Given the description of an element on the screen output the (x, y) to click on. 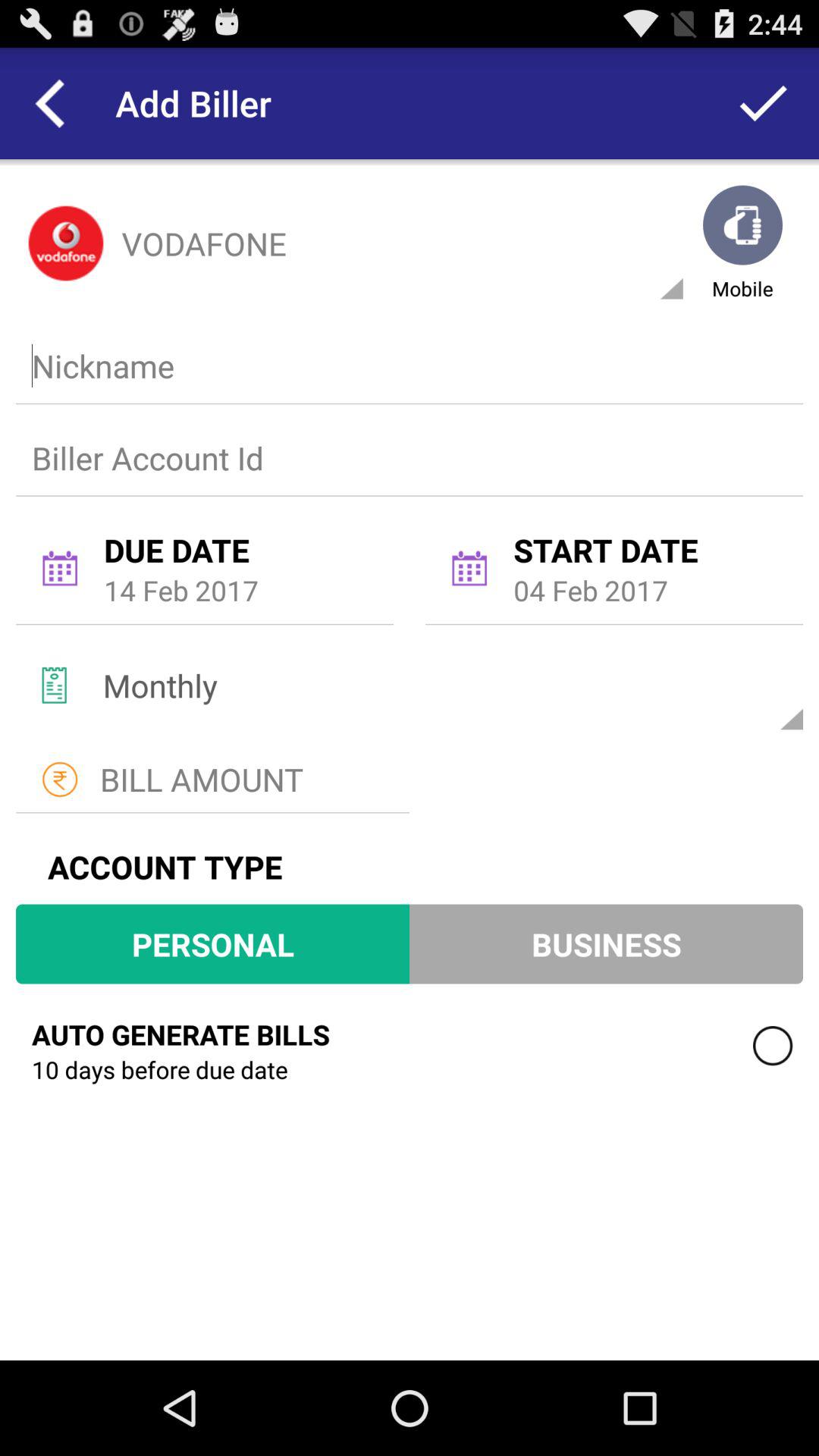
turn on icon to the left of business button (212, 943)
